Given the description of an element on the screen output the (x, y) to click on. 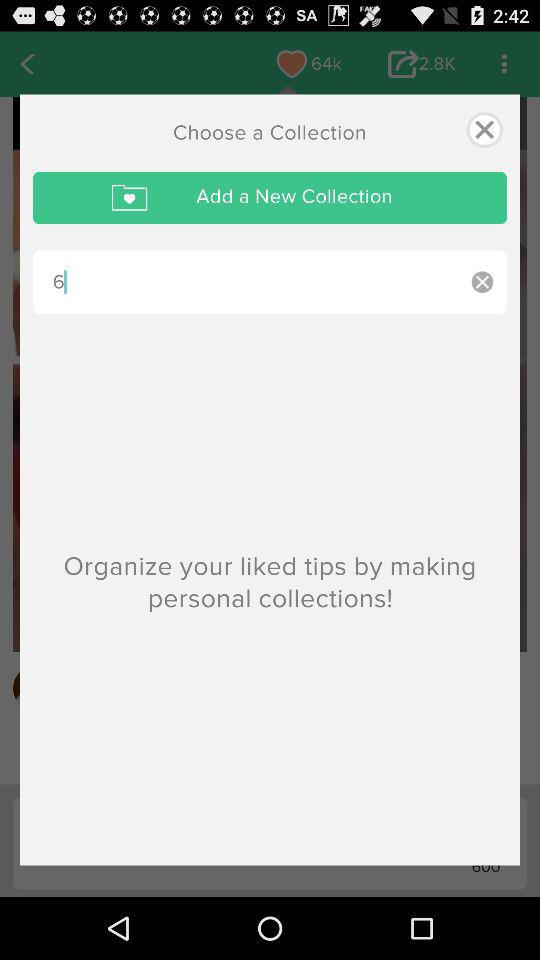
select the 6 (245, 281)
